Given the description of an element on the screen output the (x, y) to click on. 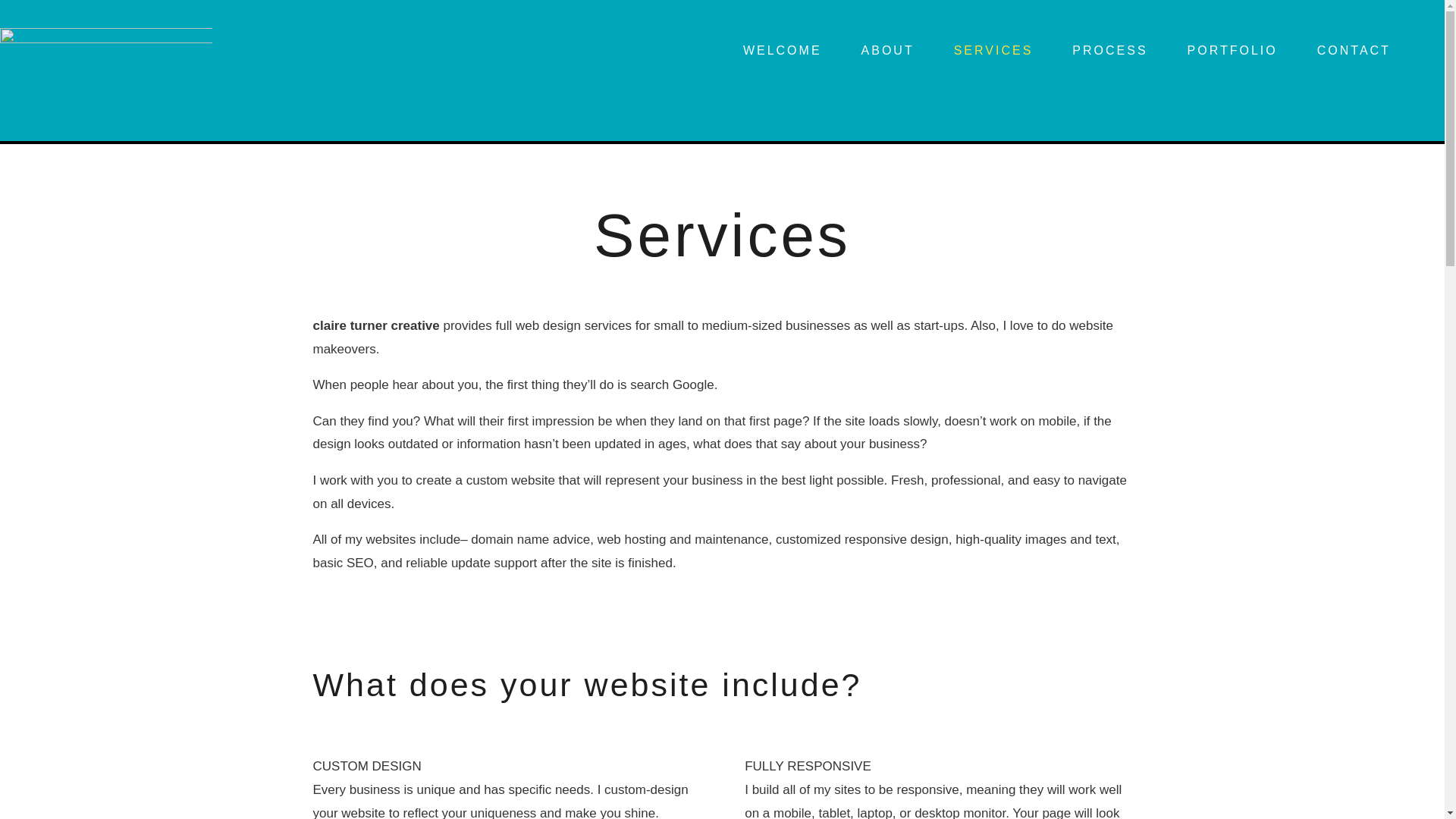
ctc-logo (106, 70)
WELCOME (793, 53)
PROCESS (1120, 53)
ABOUT (899, 53)
CONTACT (1365, 53)
SERVICES (1005, 53)
PORTFOLIO (1244, 53)
